Given the description of an element on the screen output the (x, y) to click on. 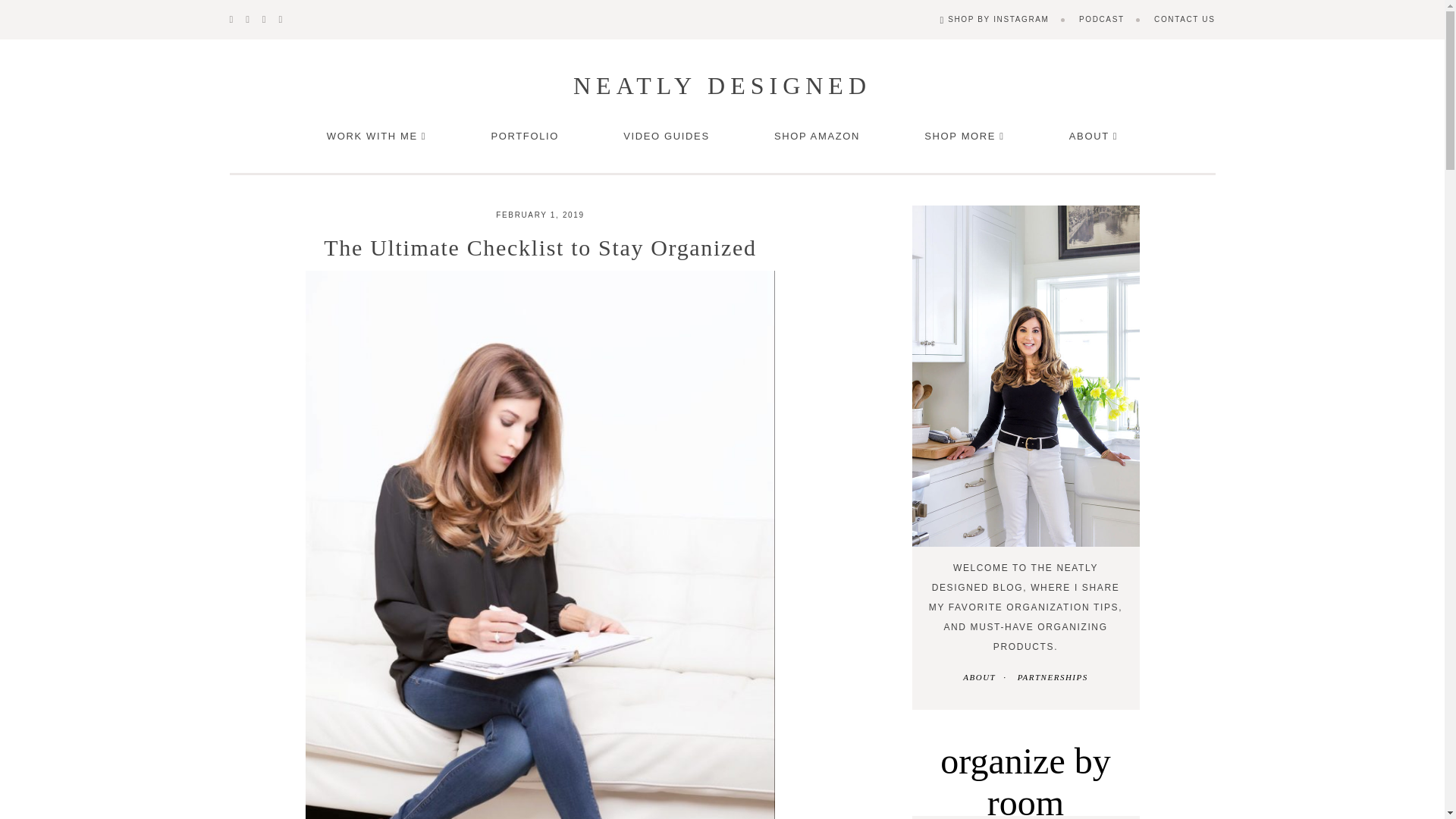
ABOUT (978, 677)
SHOP MORE (964, 136)
KITCHEN (1026, 817)
PODCAST (1101, 19)
ABOUT (1093, 136)
WORK WITH ME (376, 136)
VIDEO GUIDES (666, 136)
PARTNERSHIPS (1052, 677)
SHOP BY INSTAGRAM (993, 19)
SHOP AMAZON (817, 136)
